Given the description of an element on the screen output the (x, y) to click on. 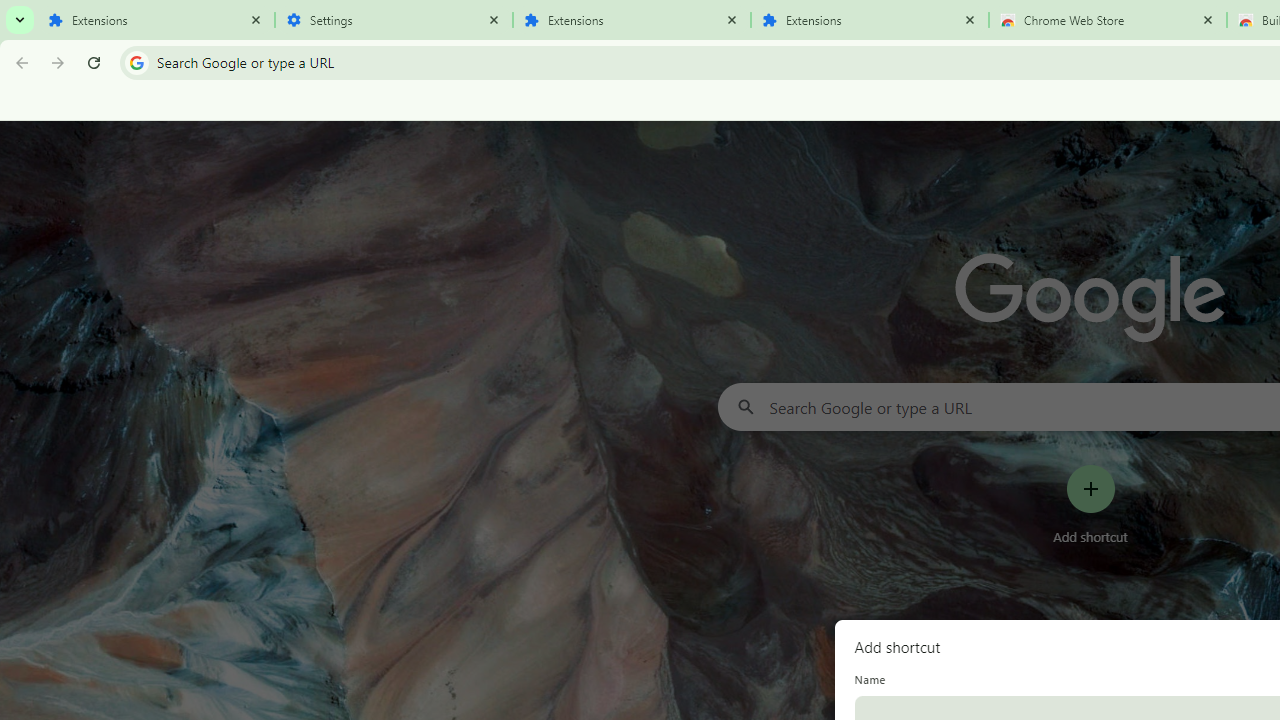
Extensions (156, 20)
Chrome Web Store (1108, 20)
Extensions (870, 20)
Search icon (136, 62)
Extensions (632, 20)
Settings (394, 20)
